Given the description of an element on the screen output the (x, y) to click on. 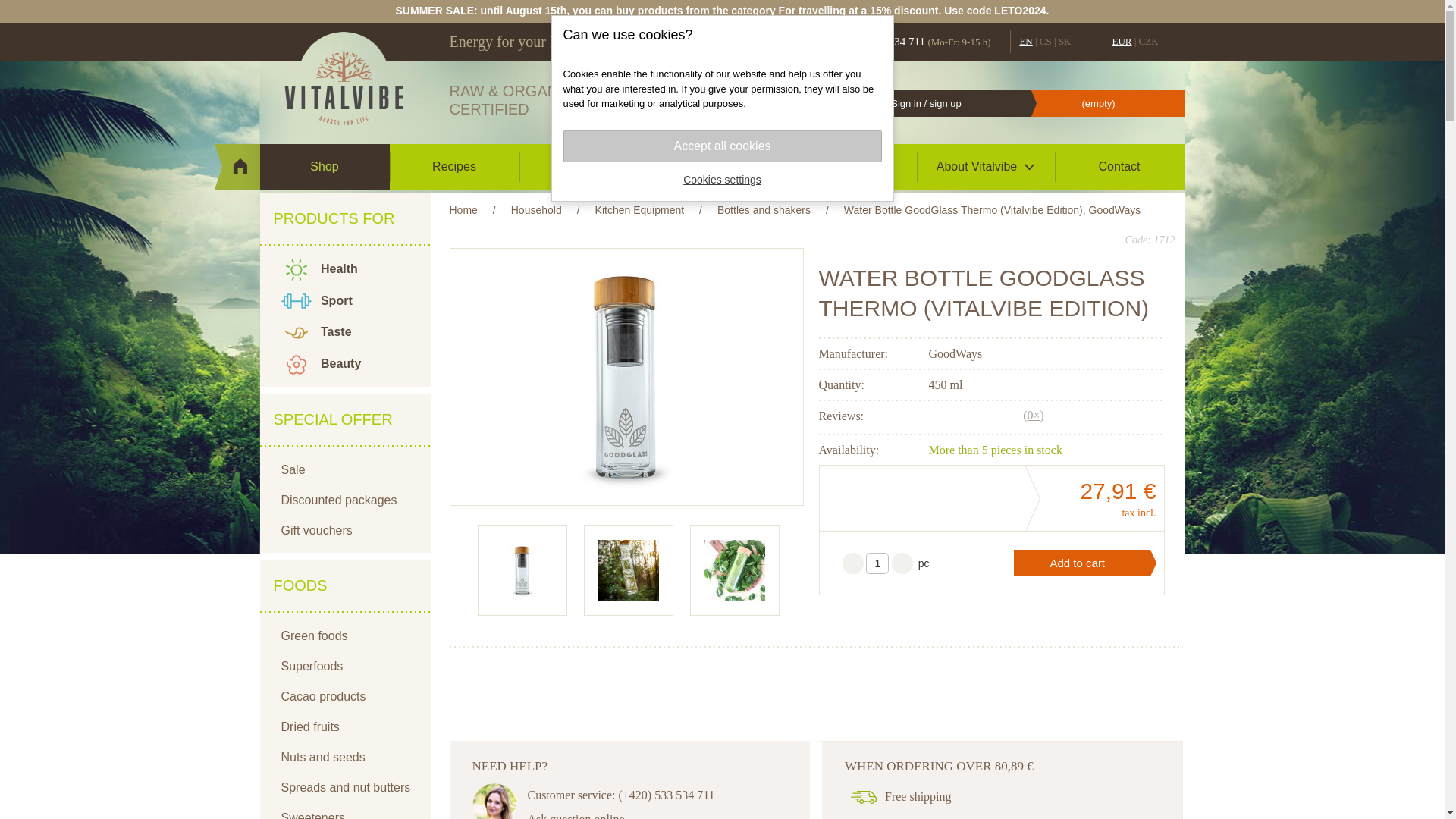
Czech (1045, 41)
EUR (1121, 41)
SK (1064, 41)
EN (1025, 41)
Log in to your customer account (923, 103)
CS (1045, 41)
CZK (1148, 41)
Homepage (342, 79)
1 (877, 563)
View my shopping cart (1100, 103)
